Given the description of an element on the screen output the (x, y) to click on. 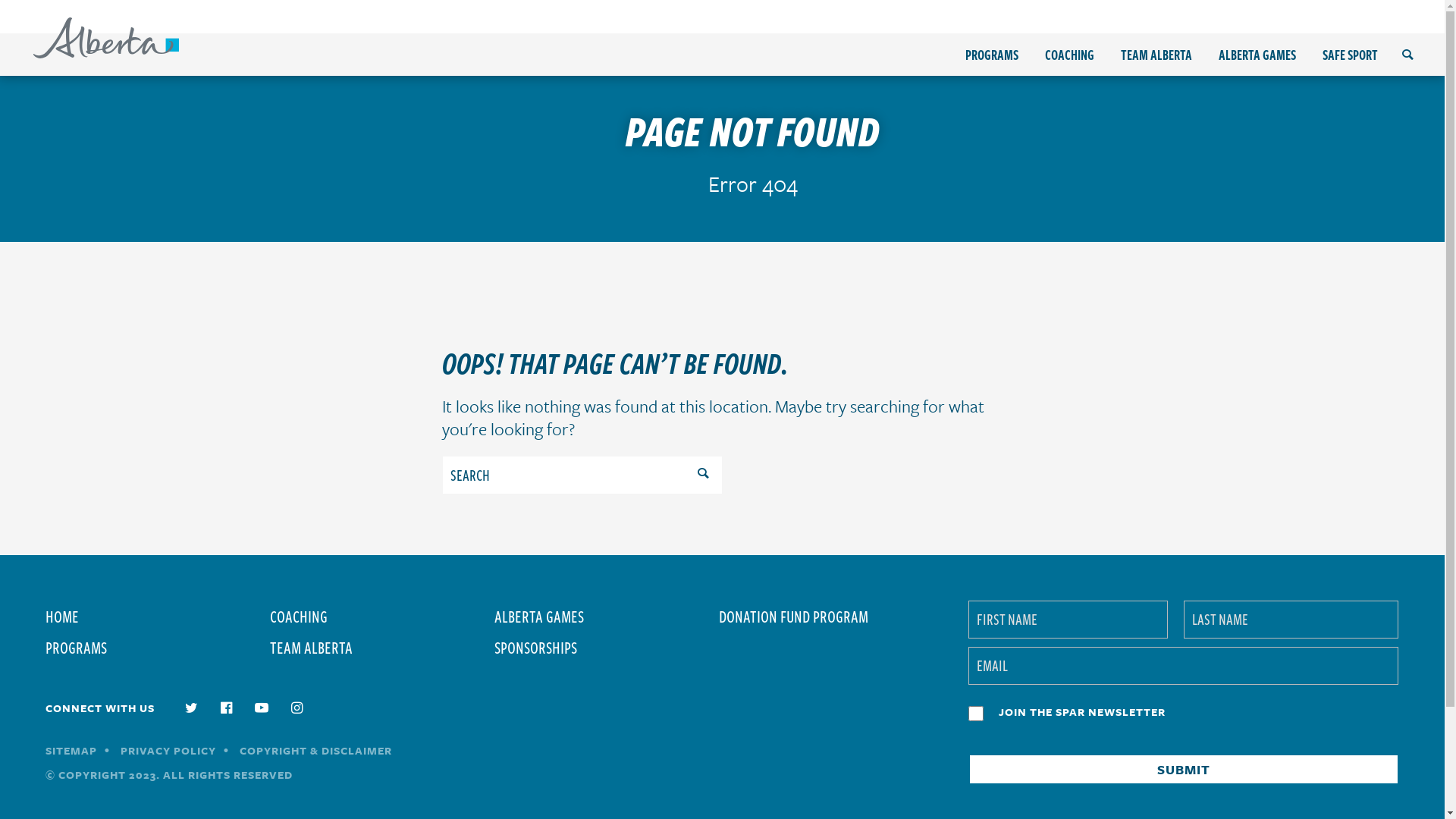
COACHING Element type: text (379, 615)
TEAM ALBERTA Element type: text (379, 646)
COACHING Element type: text (1069, 54)
PRIVACY POLICY Element type: text (168, 750)
TEAM ALBERTA Element type: text (1156, 54)
SAFE SPORT Element type: text (1350, 54)
PROGRAMS Element type: text (154, 646)
ALBERTA GAMES Element type: text (603, 615)
Skip to content Element type: text (0, 0)
SPONSORSHIPS Element type: text (603, 646)
Submit Element type: text (1183, 768)
SITEMAP Element type: text (71, 750)
Home Element type: text (105, 37)
COPYRIGHT & DISCLAIMER Element type: text (315, 750)
ALBERTA GAMES Element type: text (1257, 54)
DONATION FUND PROGRAM Element type: text (828, 615)
PROGRAMS Element type: text (991, 54)
HOME Element type: text (154, 615)
